Given the description of an element on the screen output the (x, y) to click on. 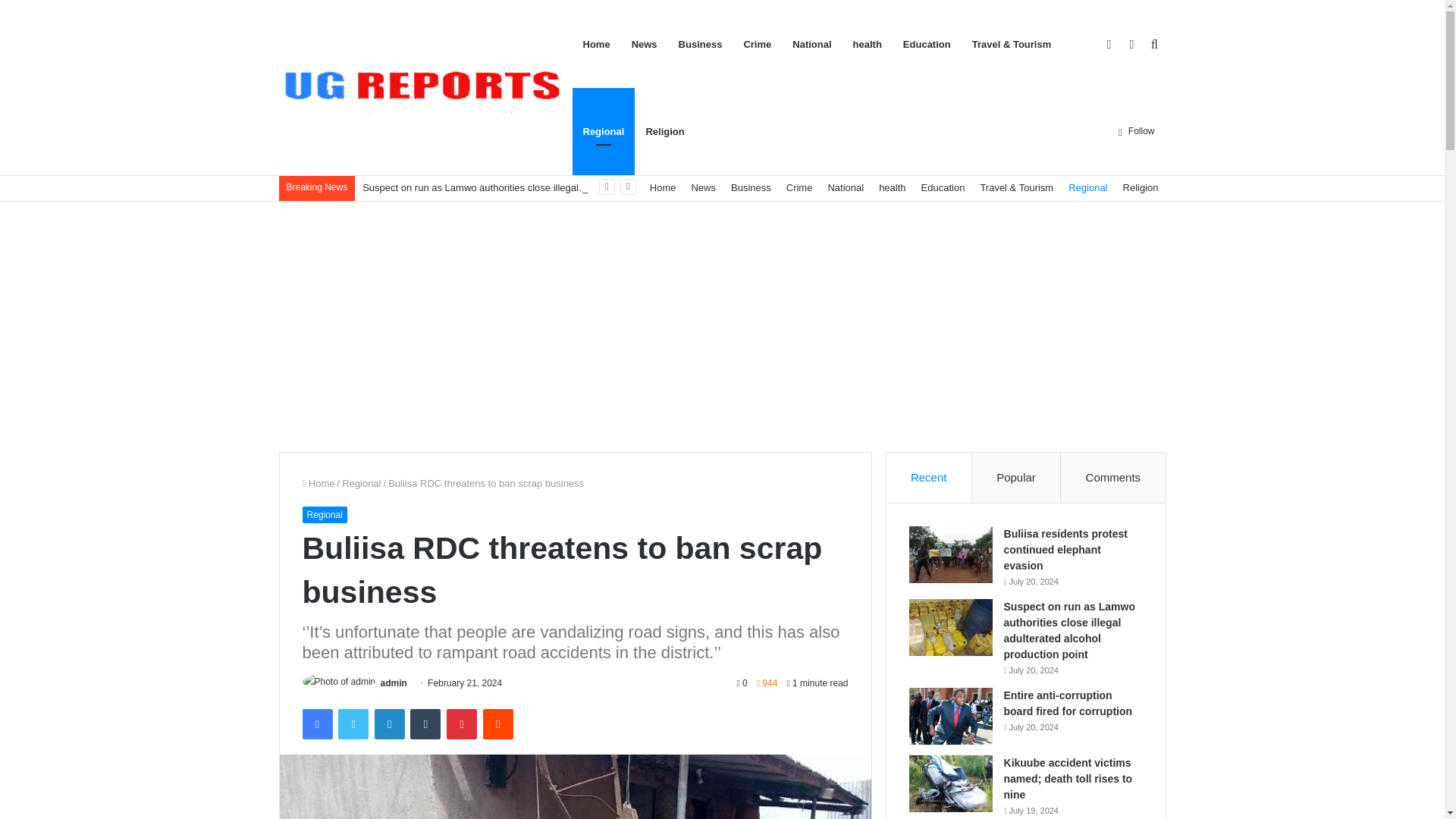
Home (663, 187)
Reddit (498, 724)
Religion (1140, 187)
Twitter (352, 724)
News (702, 187)
Pinterest (461, 724)
LinkedIn (389, 724)
Home (317, 482)
Education (943, 187)
Regional (323, 514)
health (891, 187)
National (844, 187)
admin (393, 683)
